Given the description of an element on the screen output the (x, y) to click on. 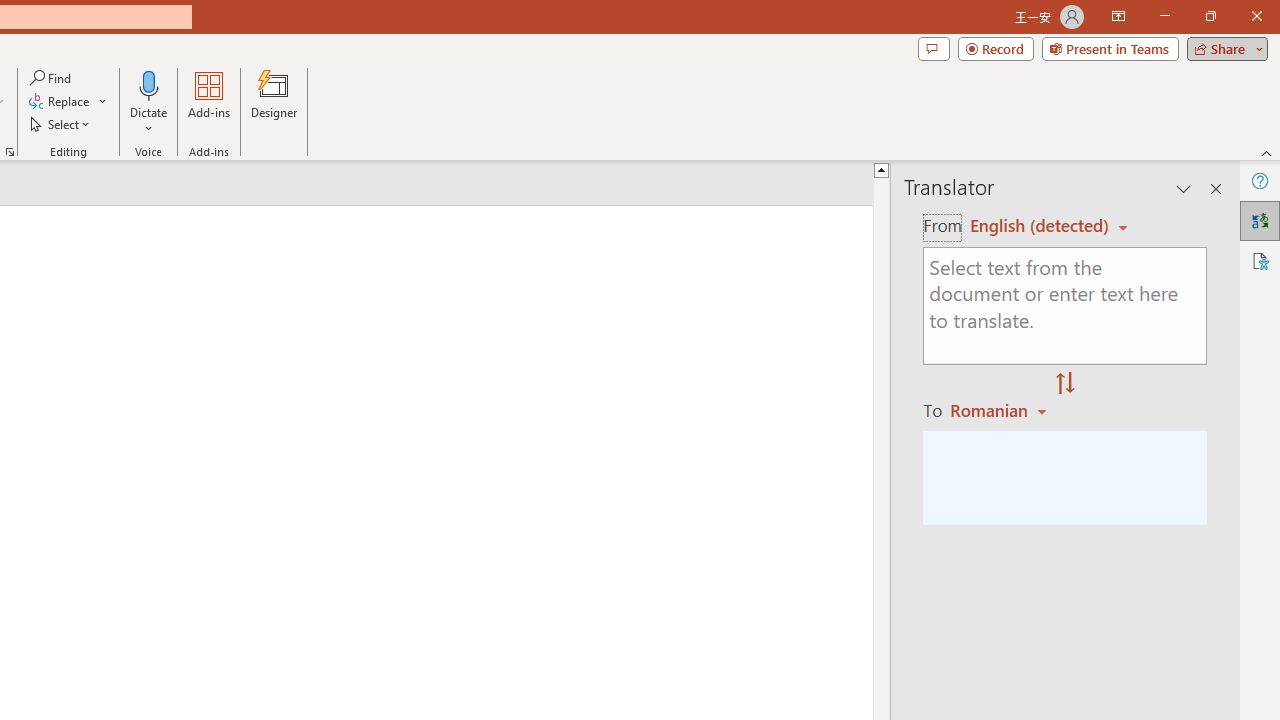
Task Pane Options (1183, 188)
Line up (880, 169)
